Given the description of an element on the screen output the (x, y) to click on. 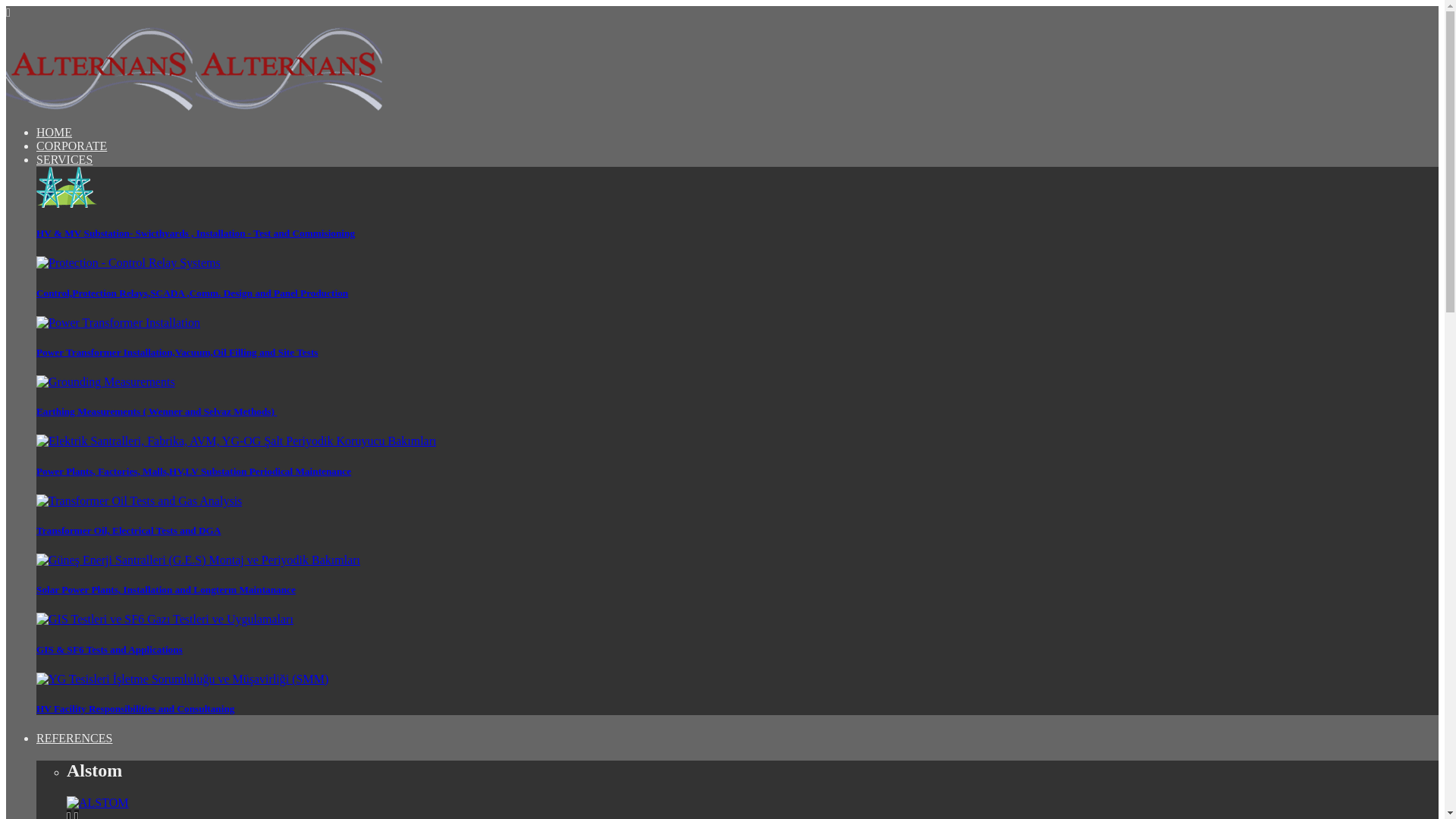
ALSTOM (97, 802)
Transformer Oil, Electrical Tests and DGA (128, 530)
Solar Power Plants, Installation and Longterm Maintanance (165, 589)
HV Facility Responsibilities and Consultaning (135, 708)
